Given the description of an element on the screen output the (x, y) to click on. 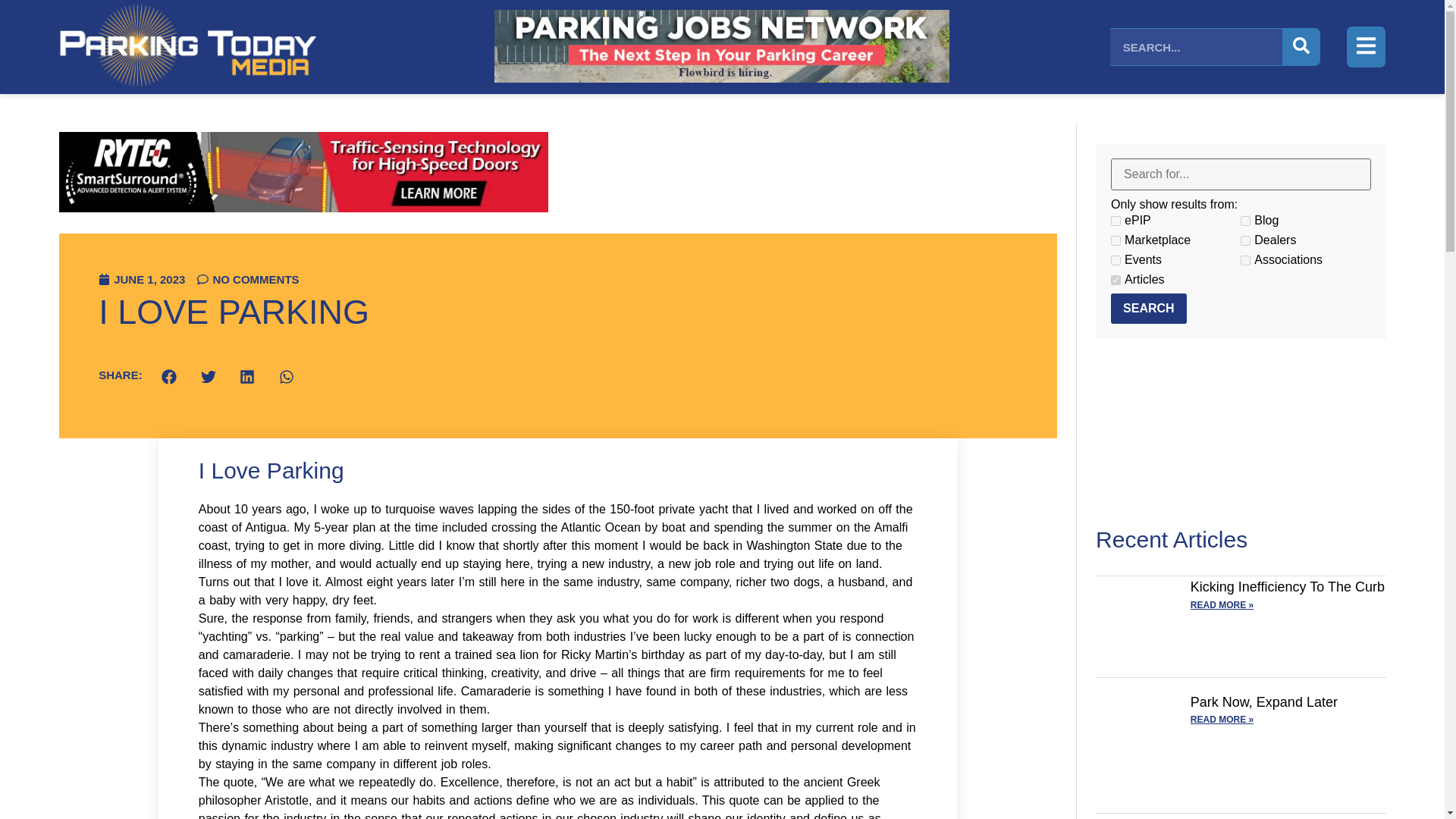
Associations (1245, 260)
Events (1115, 260)
NO COMMENTS (247, 279)
Blog (1245, 221)
Kicking Inefficiency To The Curb (1287, 586)
Park Now, Expand Later (1264, 702)
Search (1148, 308)
Marketplace (1115, 240)
Articles (1115, 280)
ePIP (1115, 221)
